Given the description of an element on the screen output the (x, y) to click on. 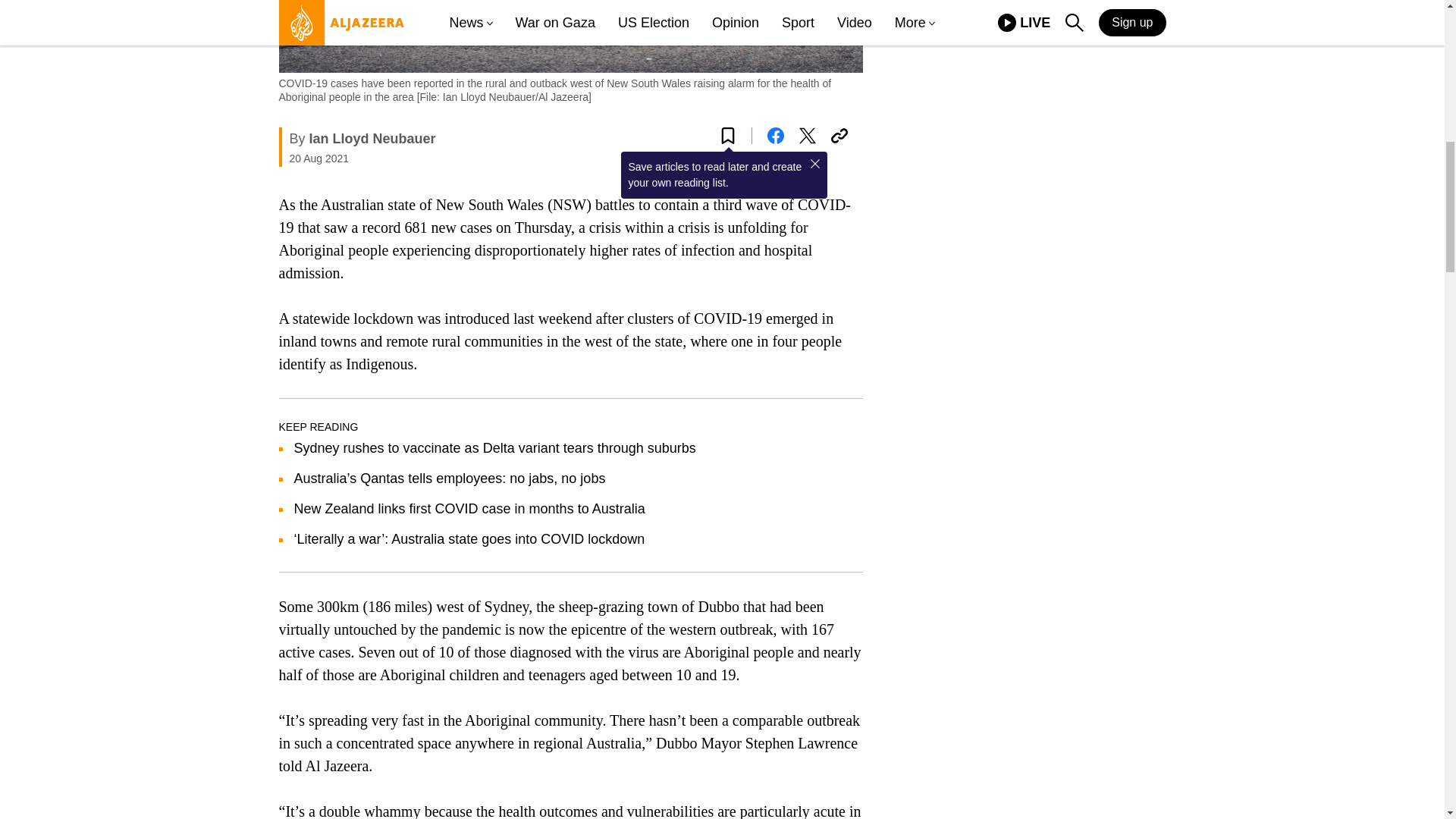
copylink (839, 135)
Close Tooltip (814, 163)
copylink (839, 135)
twitter (807, 135)
twitter (807, 135)
facebook (775, 135)
Ian Lloyd Neubauer (371, 138)
facebook (775, 135)
